Given the description of an element on the screen output the (x, y) to click on. 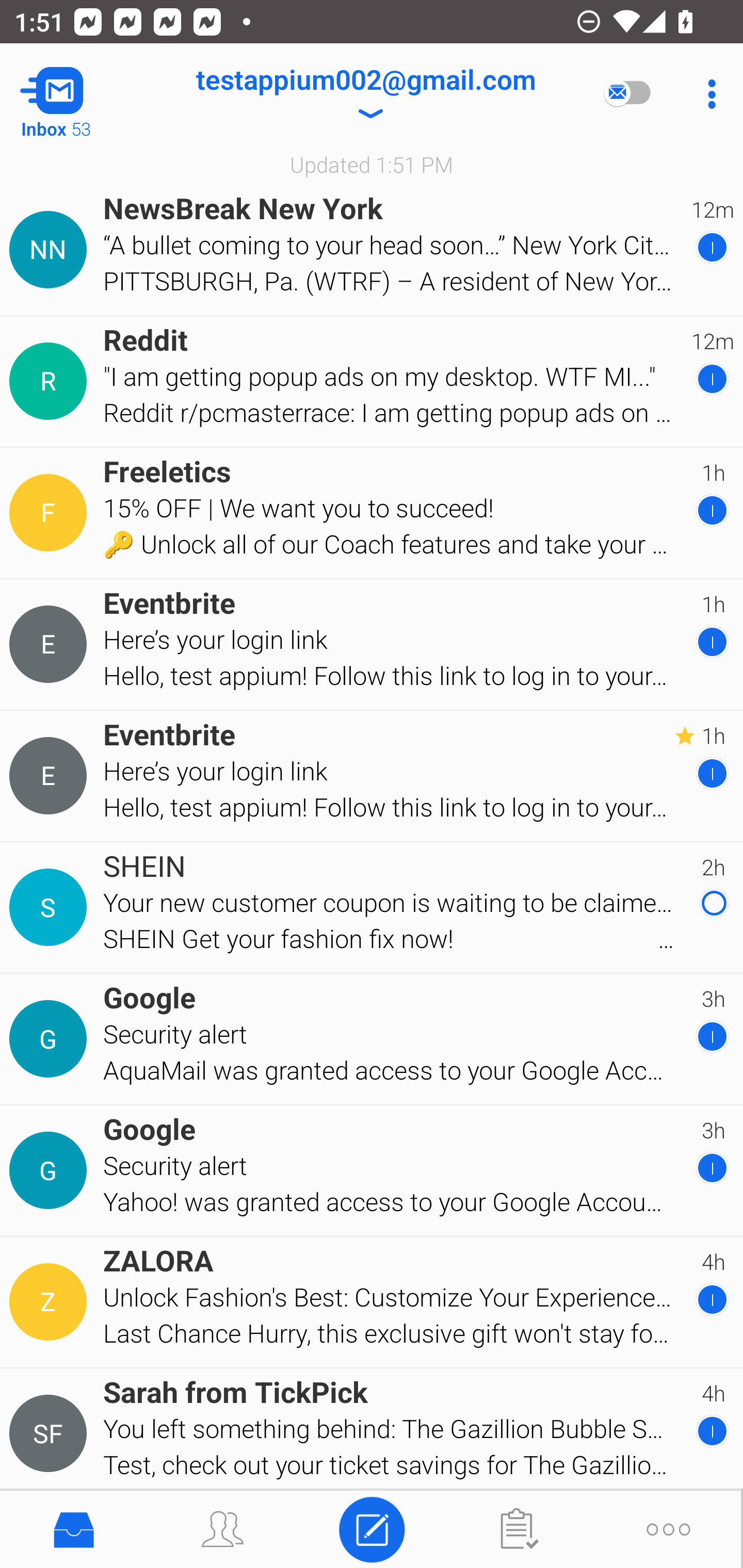
Navigate up (81, 93)
testappium002@gmail.com (365, 93)
More Options (706, 93)
Updated 1:51 PM (371, 164)
Contact Details (50, 250)
Contact Details (50, 381)
Contact Details (50, 513)
Contact Details (50, 644)
Contact Details (50, 776)
Contact Details (50, 907)
Contact Details (50, 1038)
Contact Details (50, 1170)
Contact Details (50, 1302)
Contact Details (50, 1433)
